Given the description of an element on the screen output the (x, y) to click on. 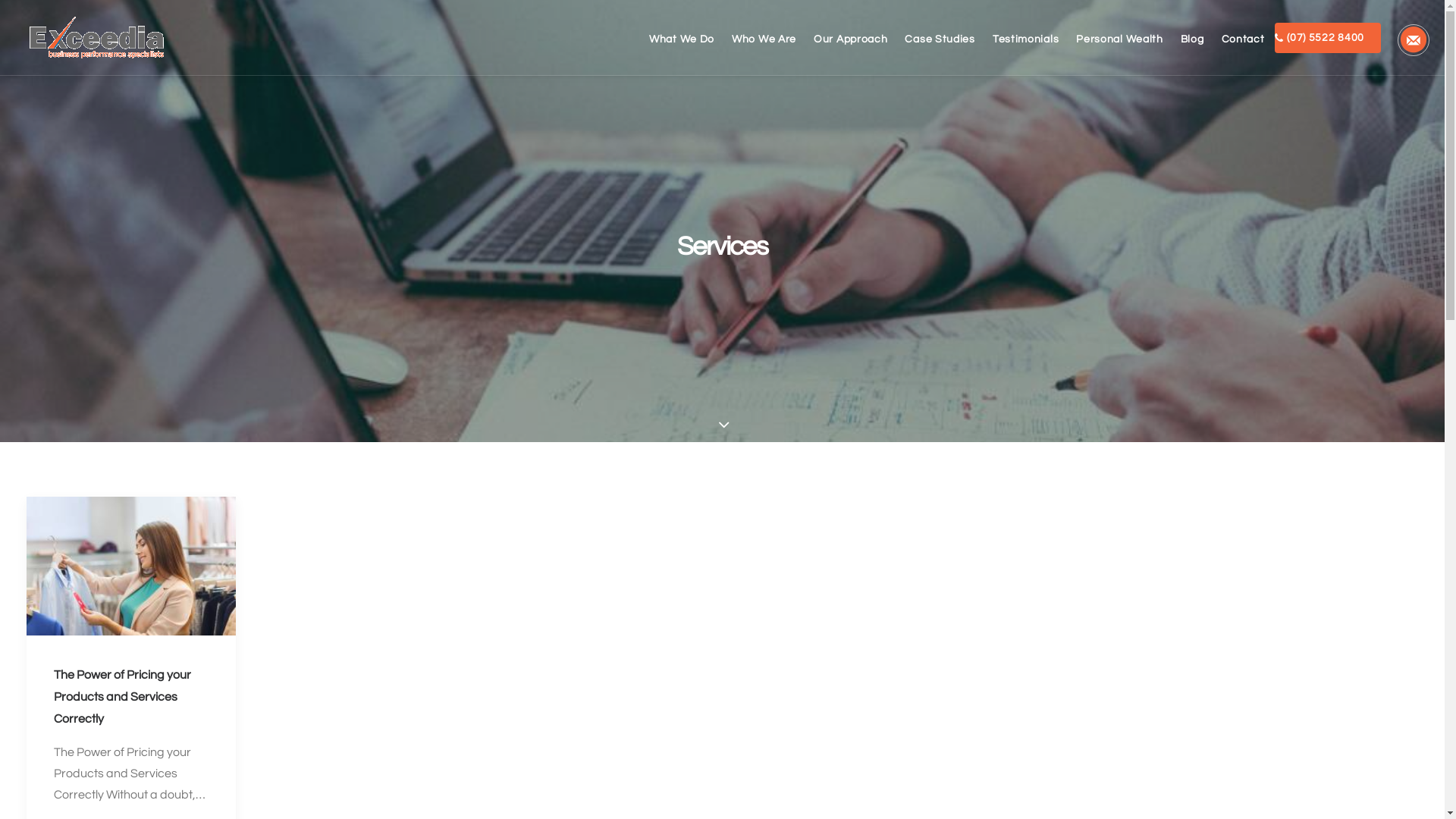
Who We Are Element type: text (763, 38)
Testimonials Element type: text (1025, 38)
Personal Wealth Element type: text (1119, 38)
What We Do Element type: text (685, 38)
Our Approach Element type: text (850, 38)
Case Studies Element type: text (939, 38)
Contact Element type: text (1243, 38)
(07) 5522 8400 Element type: text (1327, 37)
Blog Element type: text (1192, 38)
The Power of Pricing your Products and Services Correctly Element type: text (121, 696)
